Given the description of an element on the screen output the (x, y) to click on. 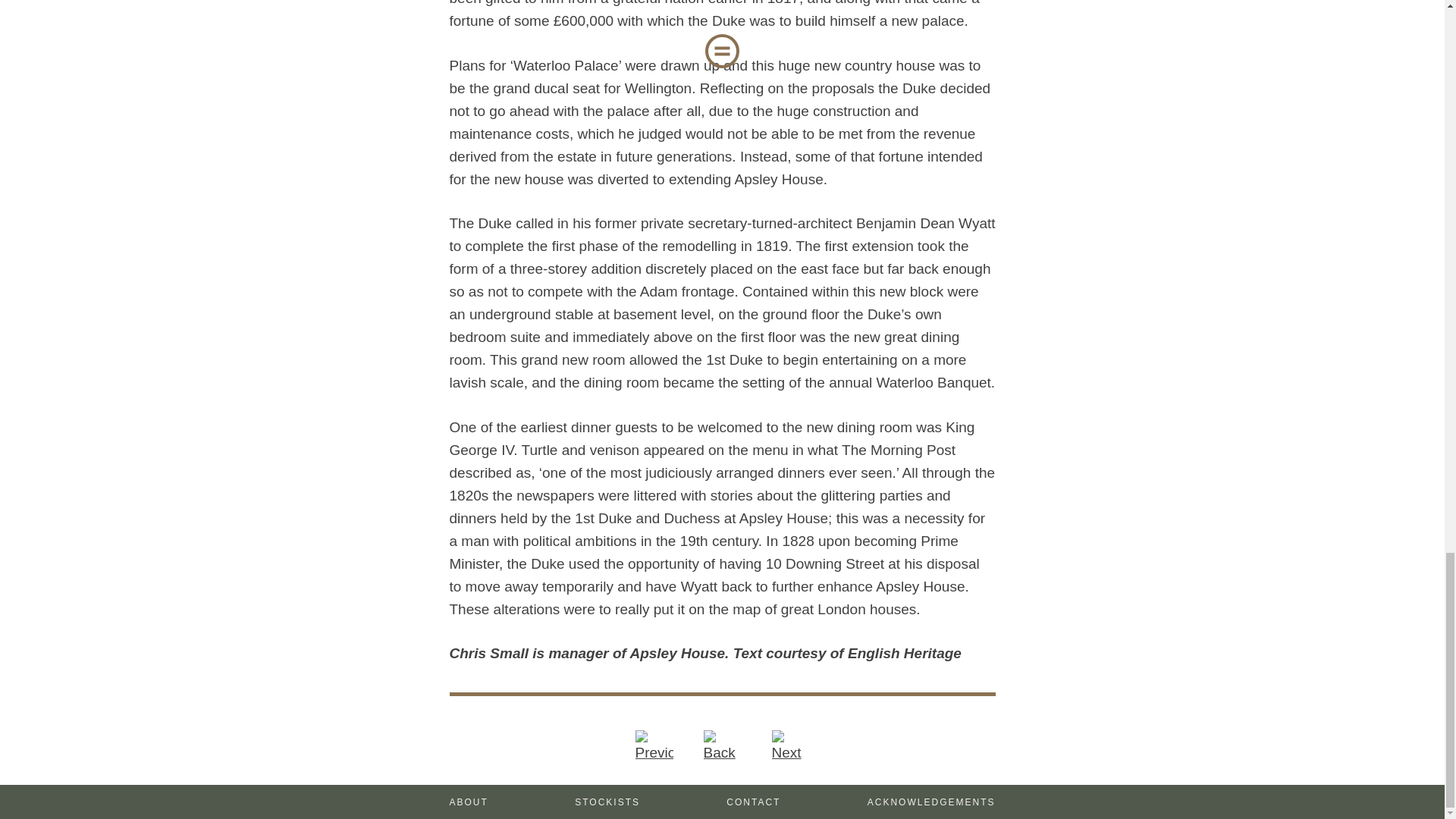
STOCKISTS (607, 801)
ABOUT (467, 801)
CONTACT (753, 801)
ACKNOWLEDGEMENTS (931, 801)
